Given the description of an element on the screen output the (x, y) to click on. 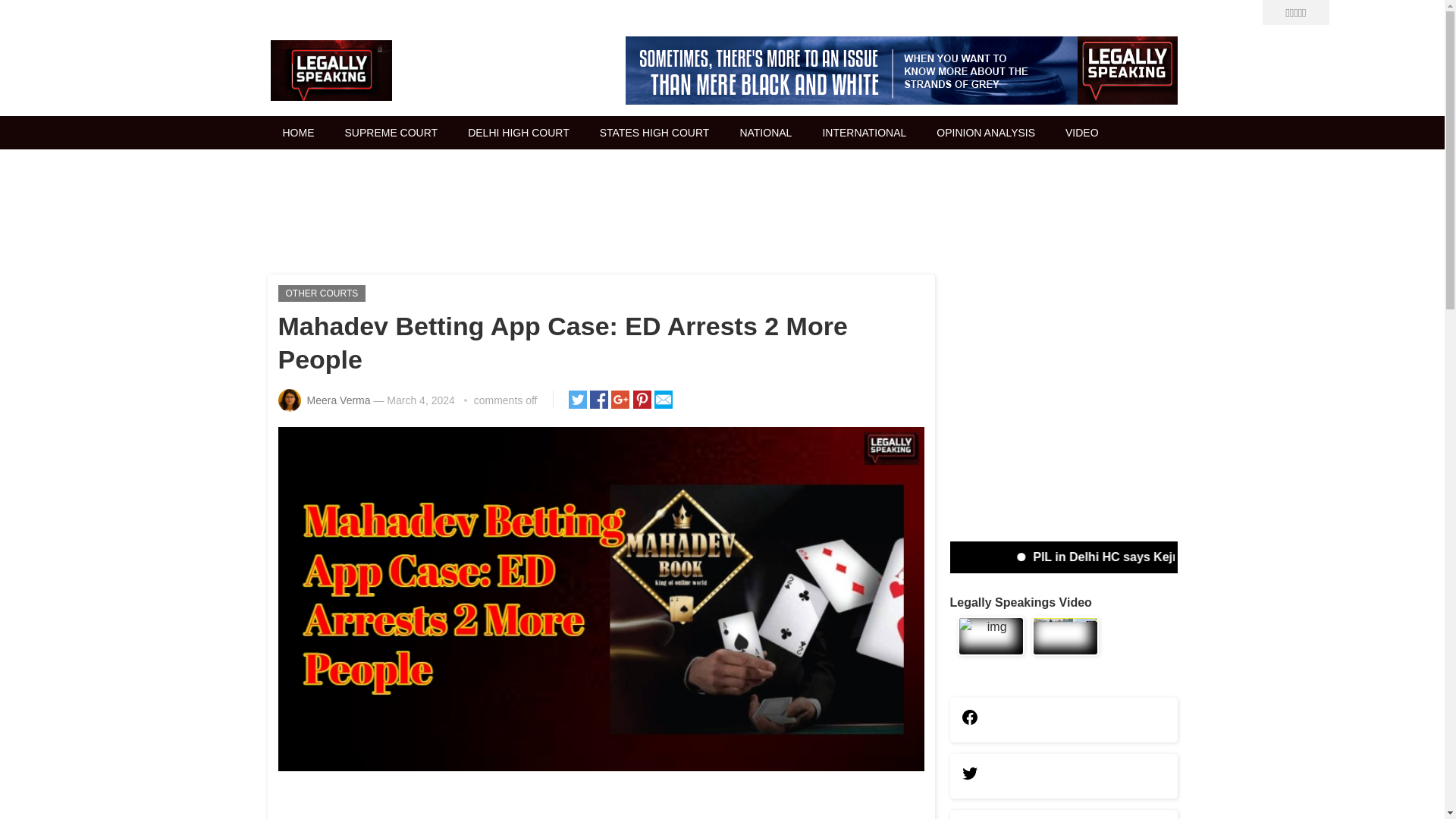
OTHER COURTS (321, 293)
DELHI HIGH COURT (518, 132)
OPINION ANALYSIS (985, 132)
STATES HIGH COURT (655, 132)
VIDEO (1081, 132)
INTERNATIONAL (863, 132)
NATIONAL (764, 132)
Meera Verma (337, 399)
Posts by Meera Verma (337, 399)
HOME (297, 132)
SUPREME COURT (390, 132)
View all posts in Other Courts (321, 293)
